Given the description of an element on the screen output the (x, y) to click on. 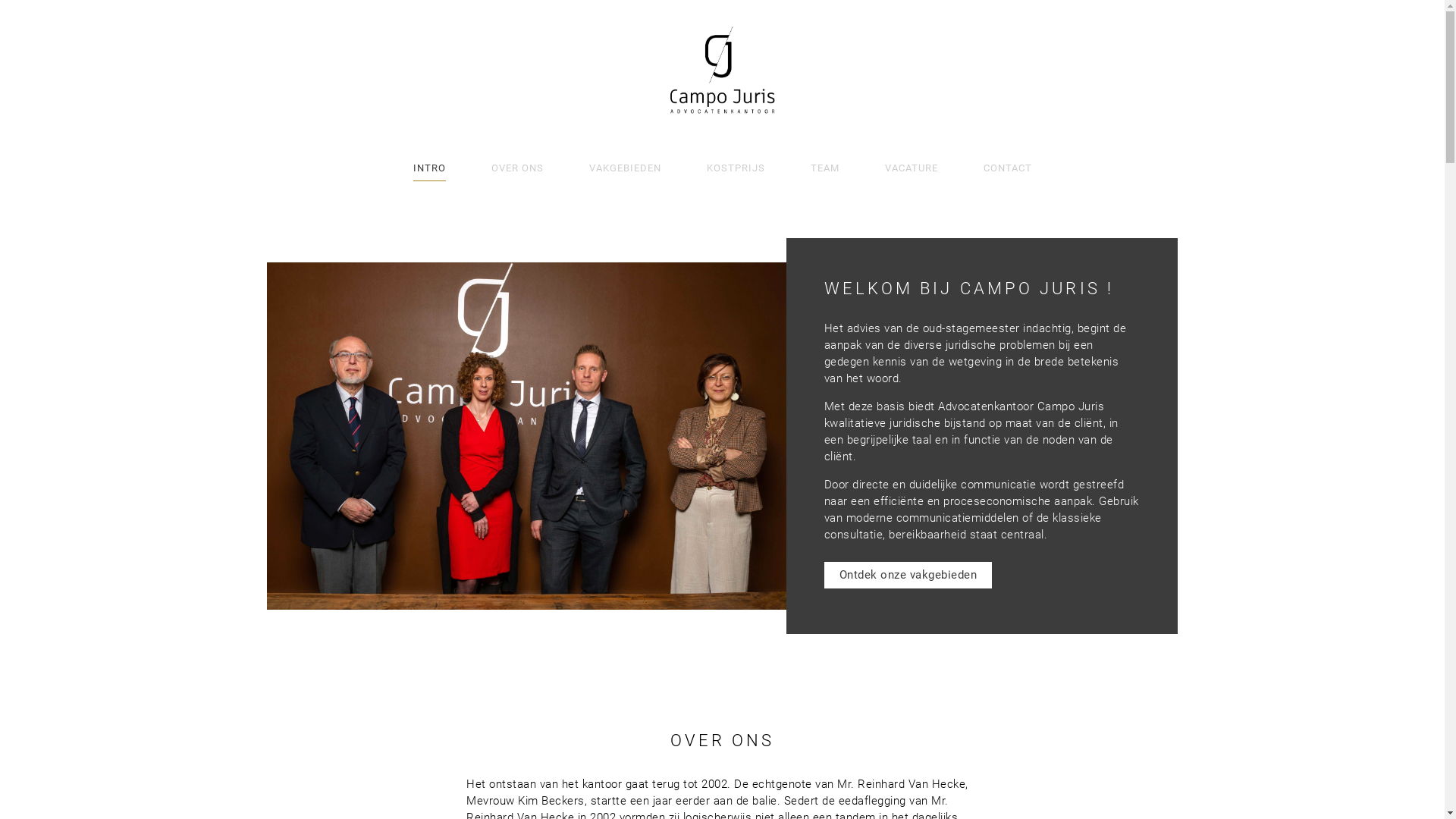
TEAM Element type: text (823, 168)
logo Element type: hover (722, 71)
VAKGEBIEDEN Element type: text (624, 168)
Ontdek onze vakgebieden Element type: text (907, 574)
KOSTPRIJS Element type: text (735, 168)
VACATURE Element type: text (910, 168)
CONTACT Element type: text (1006, 168)
INTRO Element type: text (428, 168)
OVER ONS Element type: text (517, 168)
